Given the description of an element on the screen output the (x, y) to click on. 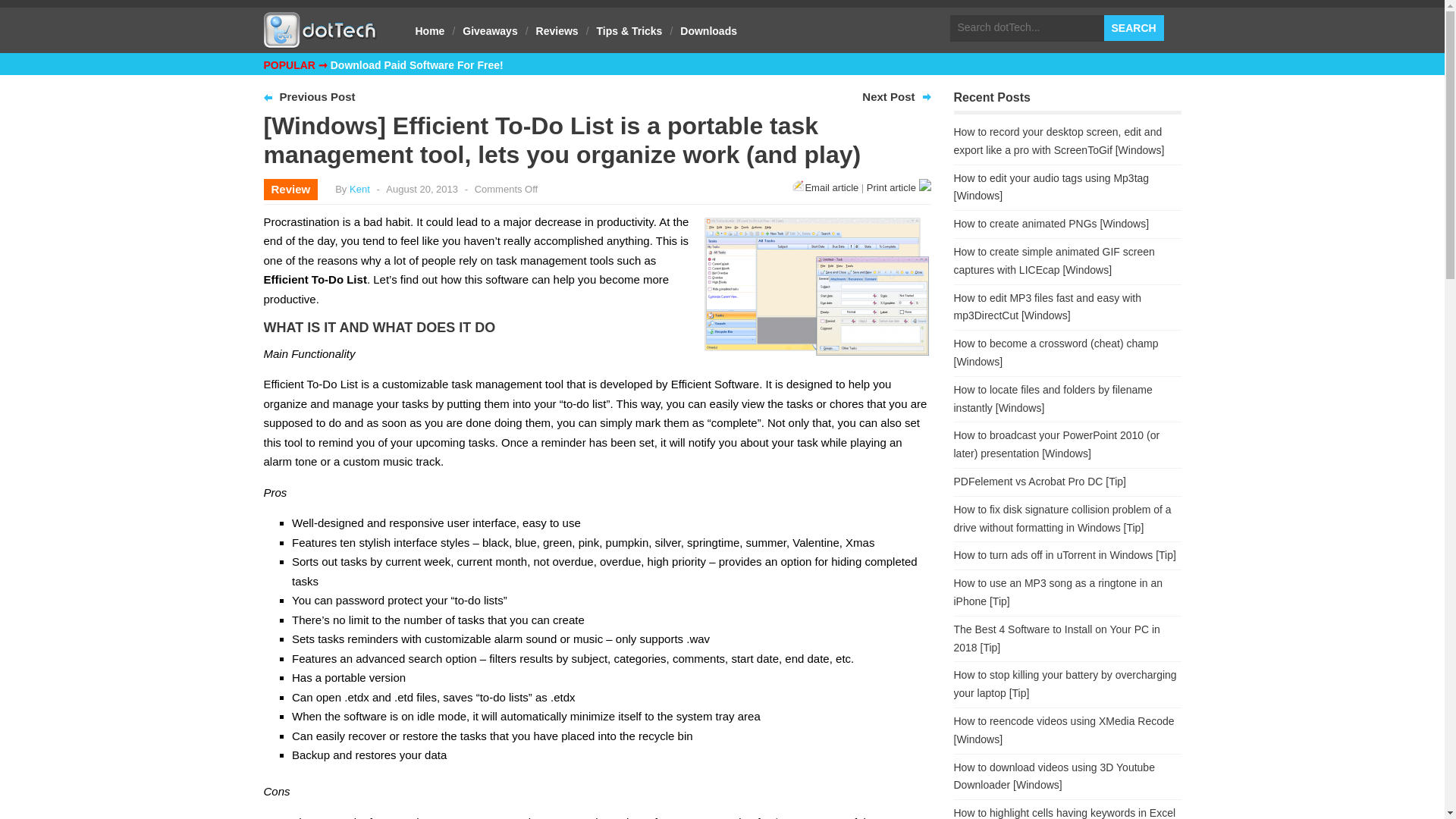
Previous Post (317, 96)
Search (1133, 27)
Posts by Kent (359, 188)
Search (1133, 27)
dotTech (320, 40)
Print article (898, 187)
Downloads (708, 30)
Giveaways (489, 30)
Reviews (557, 30)
Kent (359, 188)
Review (290, 188)
Next Post (887, 96)
Home (429, 30)
Email article (825, 187)
Download Paid Software For Free! (416, 64)
